Given the description of an element on the screen output the (x, y) to click on. 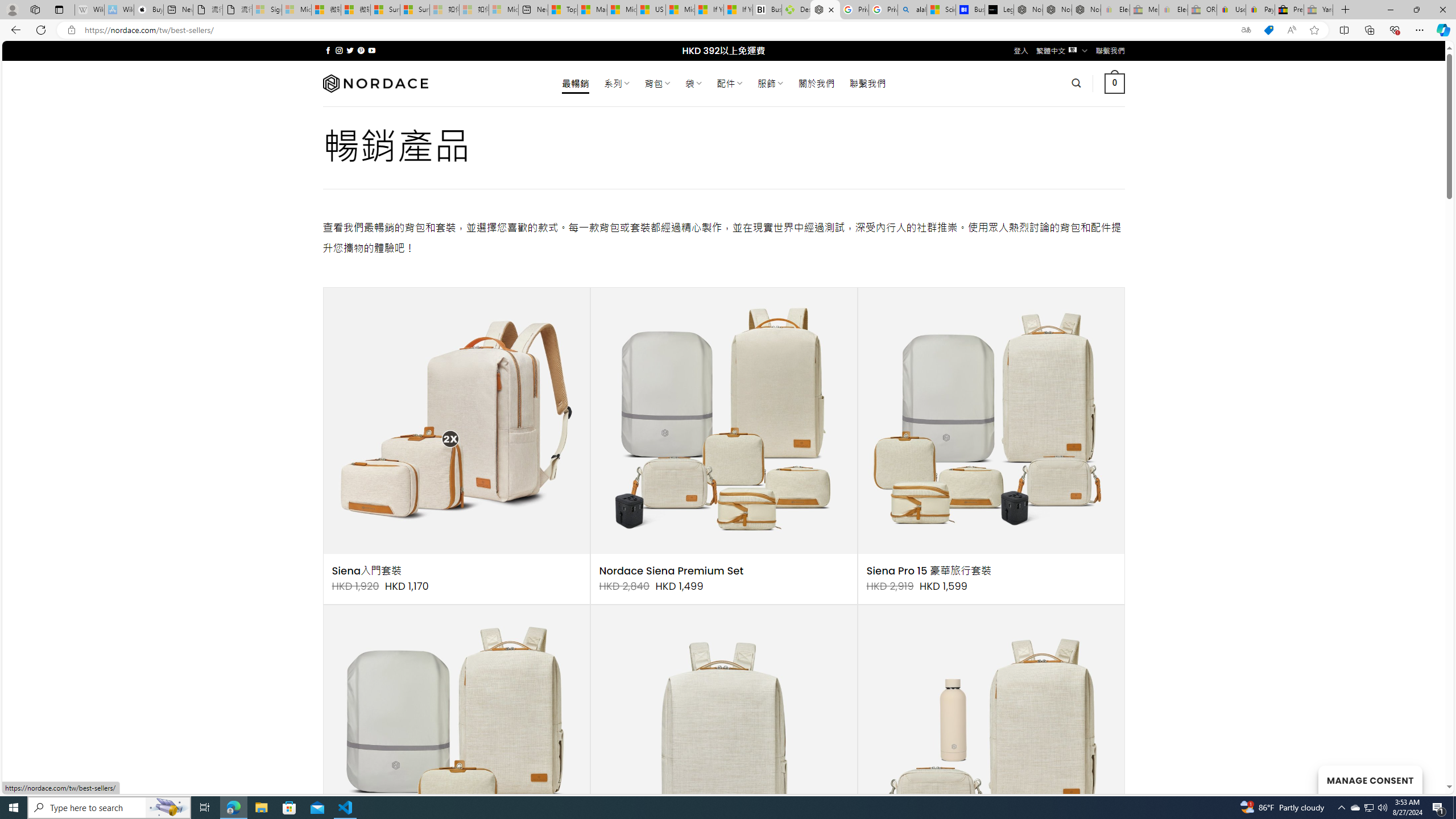
Tab actions menu (58, 9)
Nordace Siena Premium Set (671, 571)
Yard, Garden & Outdoor Living - Sleeping (1318, 9)
US Heat Deaths Soared To Record High Last Year (651, 9)
Follow on Pinterest (360, 50)
New Tab (1346, 9)
View site information (70, 29)
alabama high school quarterback dies - Search (911, 9)
Personal Profile (12, 9)
